Given the description of an element on the screen output the (x, y) to click on. 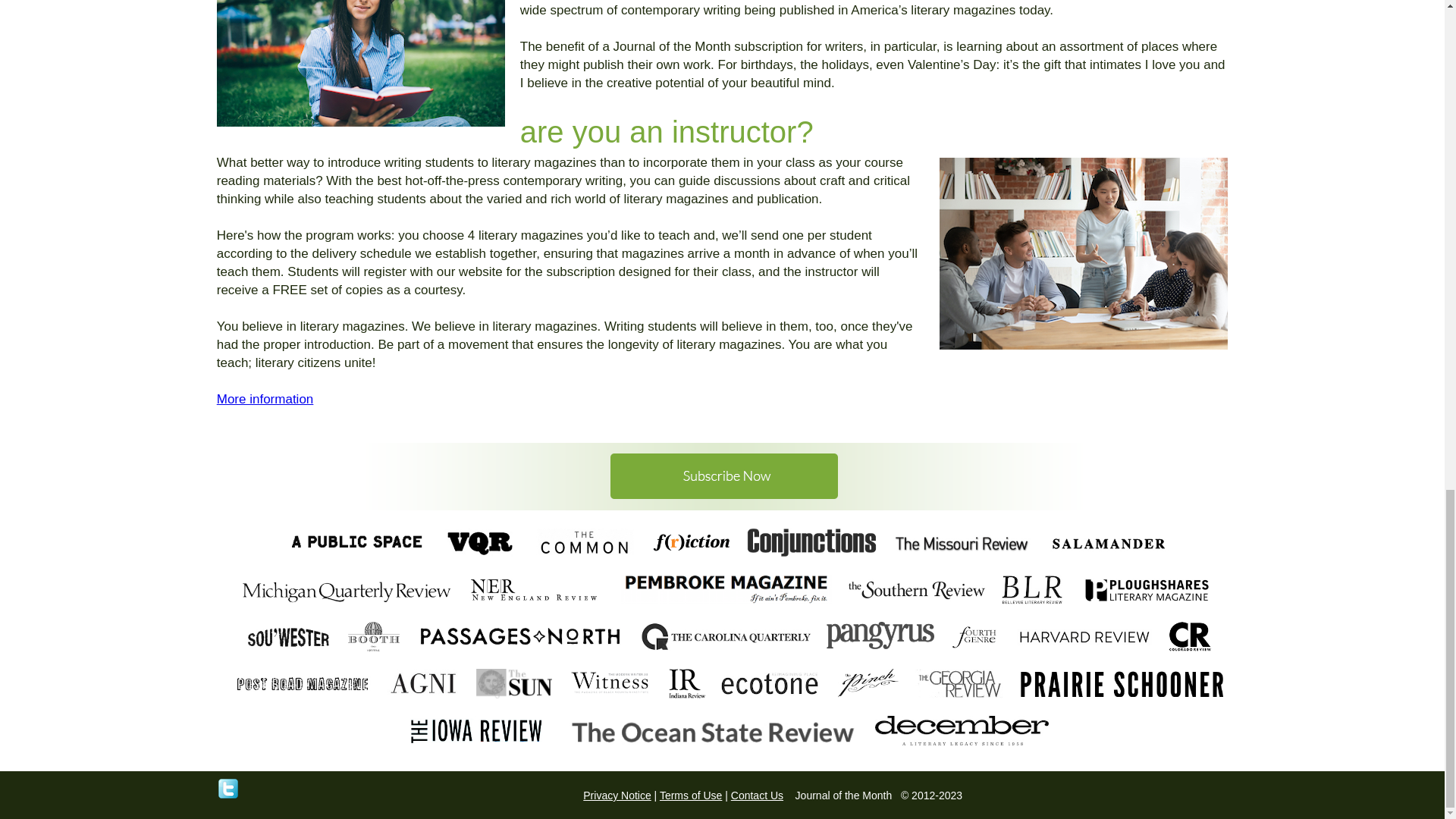
More information (265, 399)
Subscribe Now (721, 474)
Contact Us (756, 795)
Privacy Notice (616, 795)
Terms of Use (690, 795)
